Given the description of an element on the screen output the (x, y) to click on. 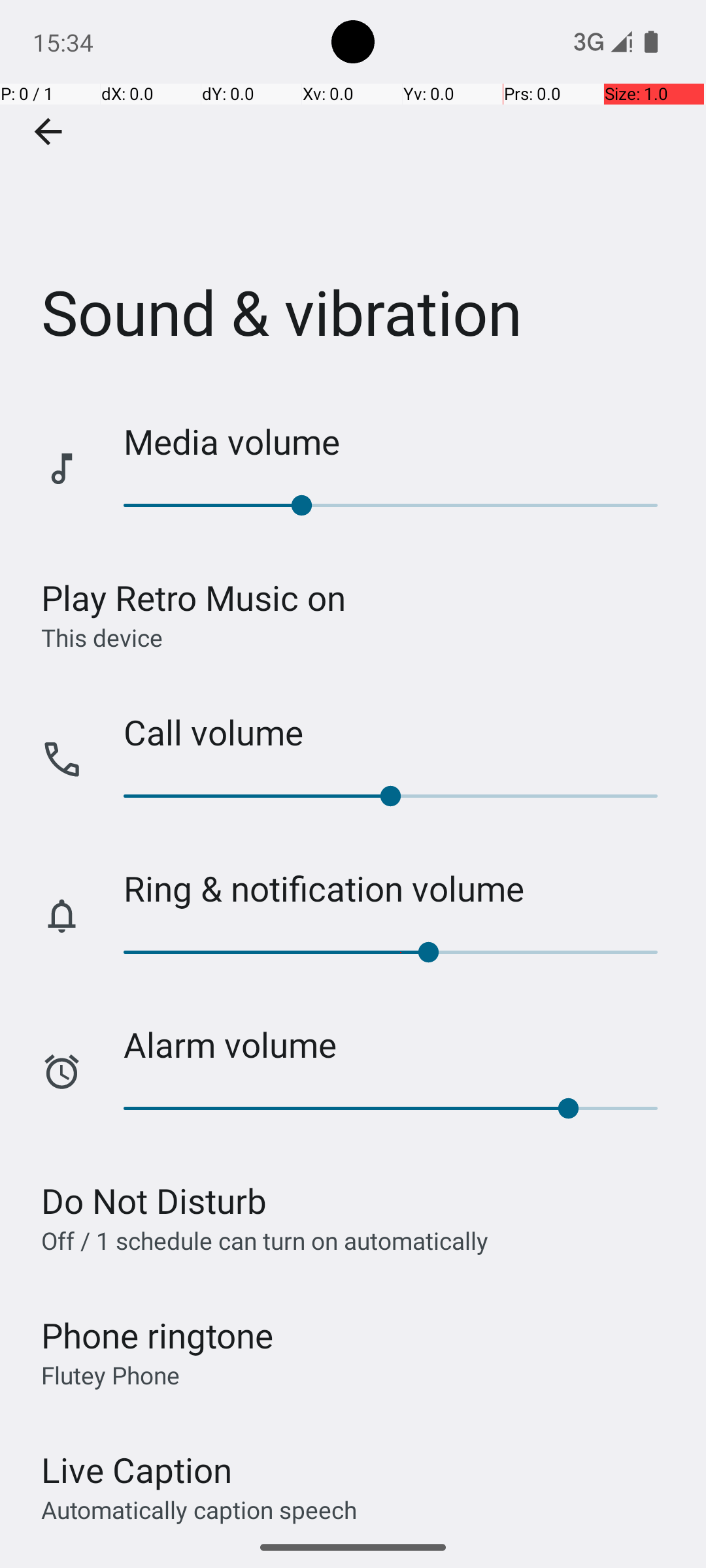
Media volume Element type: android.widget.TextView (400, 441)
Play Retro Music on Element type: android.widget.TextView (193, 597)
This device Element type: android.widget.TextView (101, 636)
Call volume Element type: android.widget.TextView (400, 731)
Ring & notification volume Element type: android.widget.TextView (400, 888)
Off / 1 schedule can turn on automatically Element type: android.widget.TextView (264, 1240)
Automatically caption speech Element type: android.widget.TextView (199, 1509)
